Given the description of an element on the screen output the (x, y) to click on. 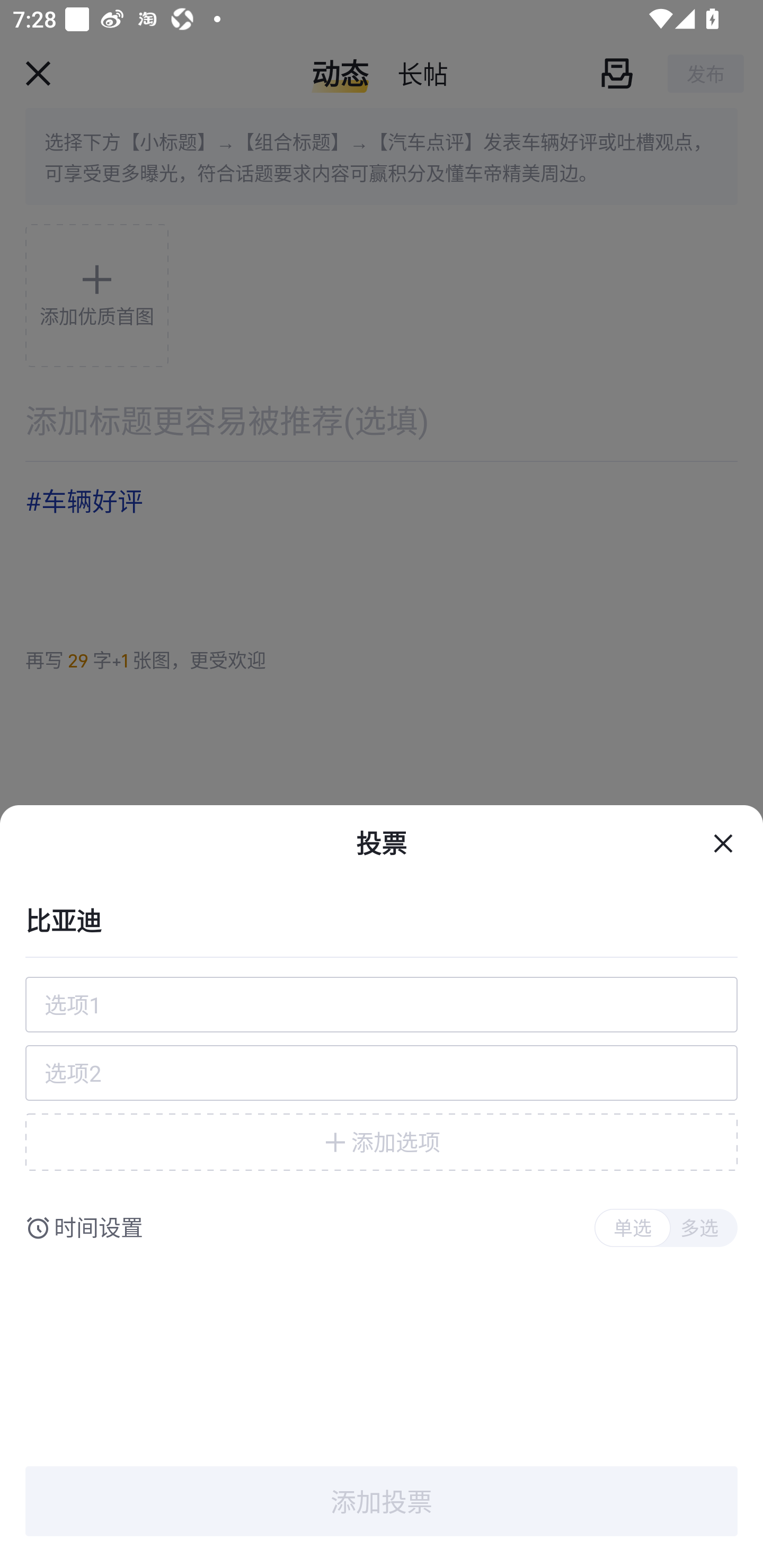
比亚迪 (381, 918)
选项1 (381, 1003)
选项2 (381, 1072)
添加选项 (381, 1142)
单选 (632, 1227)
多选 (699, 1227)
时间设置 (98, 1227)
